Given the description of an element on the screen output the (x, y) to click on. 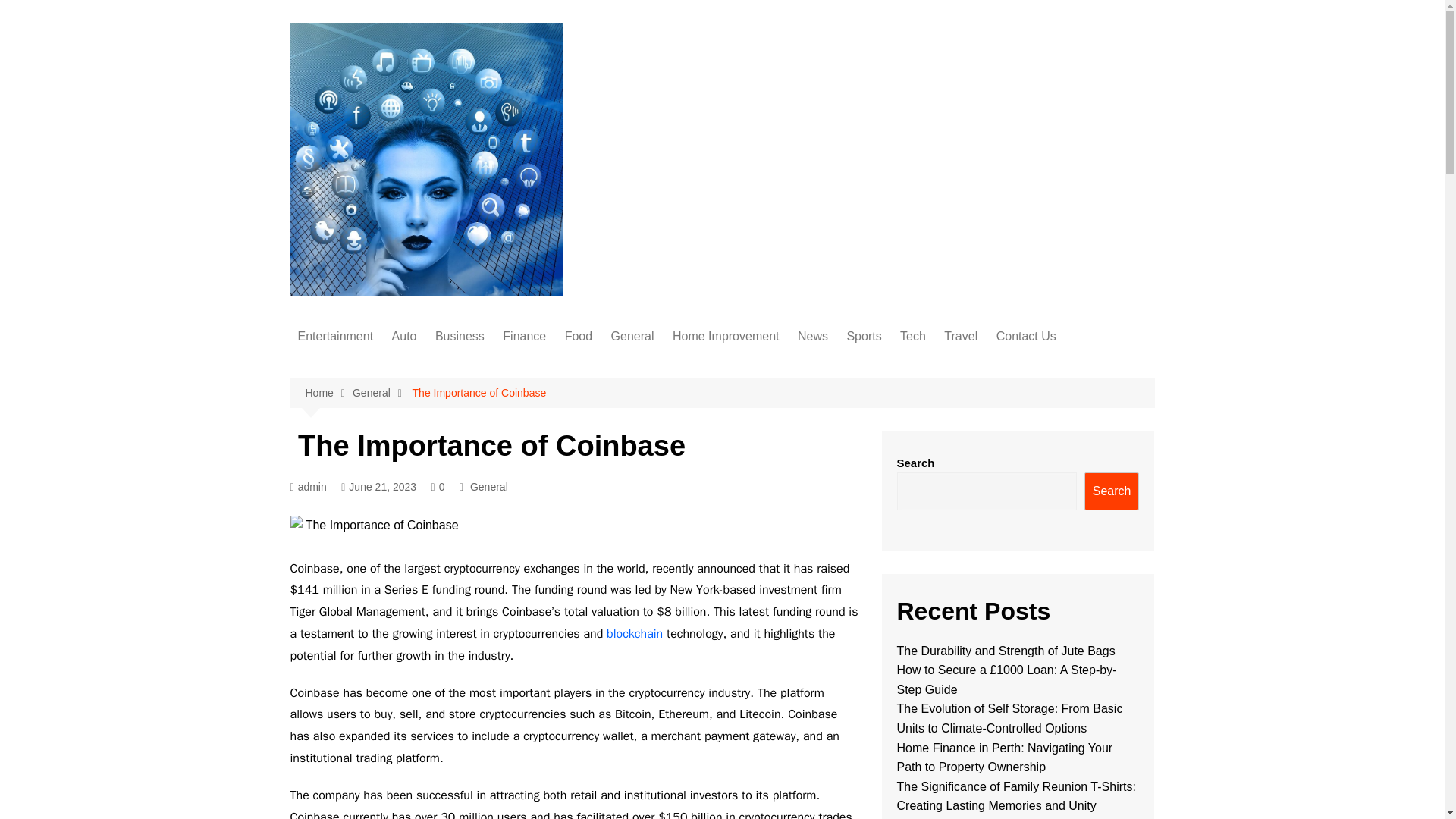
Food (578, 336)
Business (460, 336)
About Us (1072, 367)
Terms and Conditions (1072, 467)
Home Improvement (726, 336)
Travel (960, 336)
Cookies Policy (1072, 392)
Contact Us (1026, 336)
Entertainment (334, 336)
Disclaimer (1072, 416)
General (633, 336)
admin (307, 487)
 The Importance of Coinbase (477, 392)
Auto (404, 336)
blockchain (634, 633)
